Given the description of an element on the screen output the (x, y) to click on. 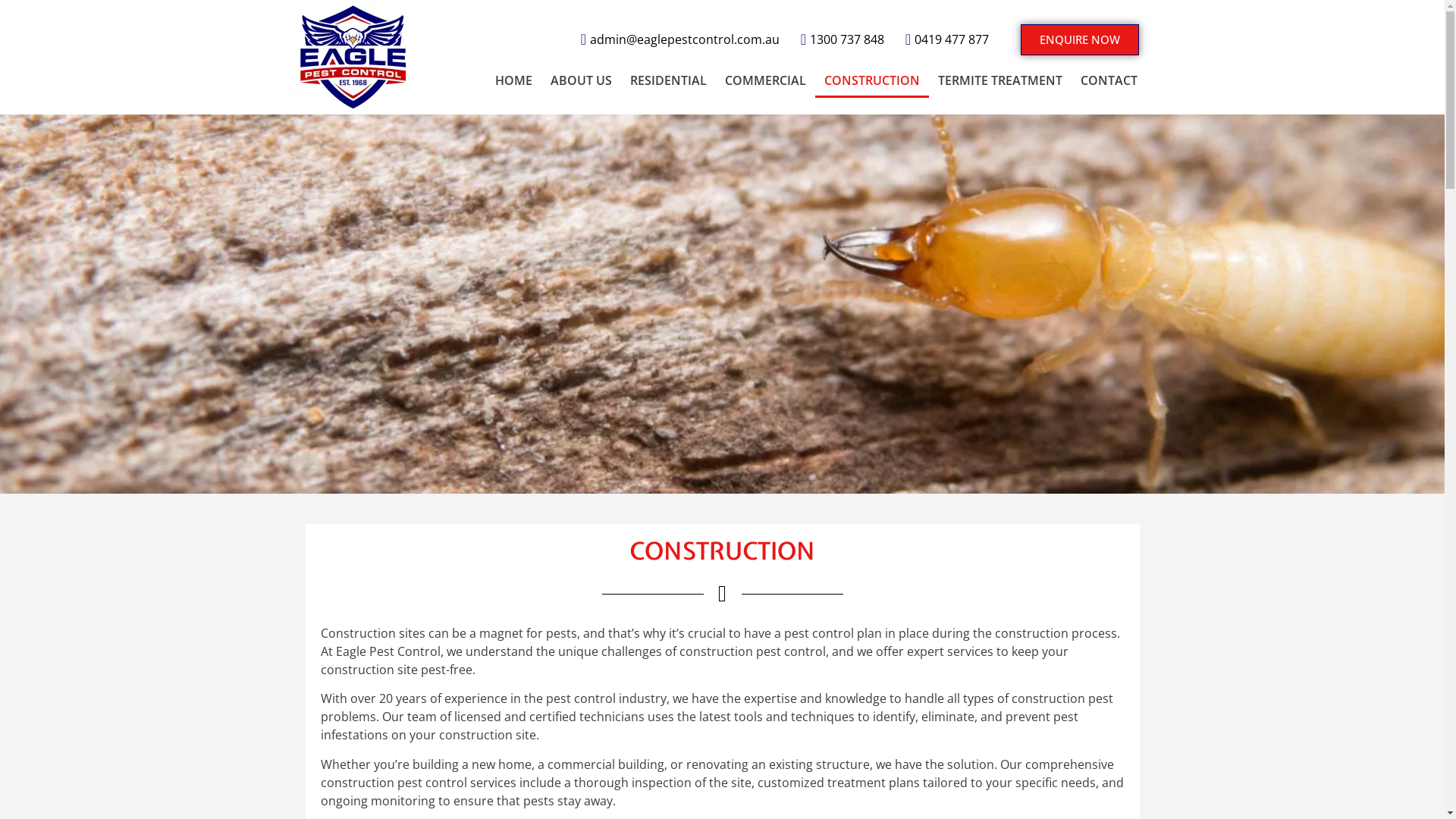
COMMERCIAL Element type: text (765, 79)
admin@eaglepestcontrol.com.au Element type: text (673, 39)
RESIDENTIAL Element type: text (668, 79)
Eagle Pest Control Element type: hover (351, 56)
ABOUT US Element type: text (581, 79)
1300 737 848 Element type: text (835, 39)
CONTACT Element type: text (1108, 79)
TERMITE TREATMENT Element type: text (999, 79)
0419 477 877 Element type: text (939, 39)
CONSTRUCTION Element type: text (871, 79)
ENQUIRE NOW Element type: text (1079, 39)
HOME Element type: text (513, 79)
